Given the description of an element on the screen output the (x, y) to click on. 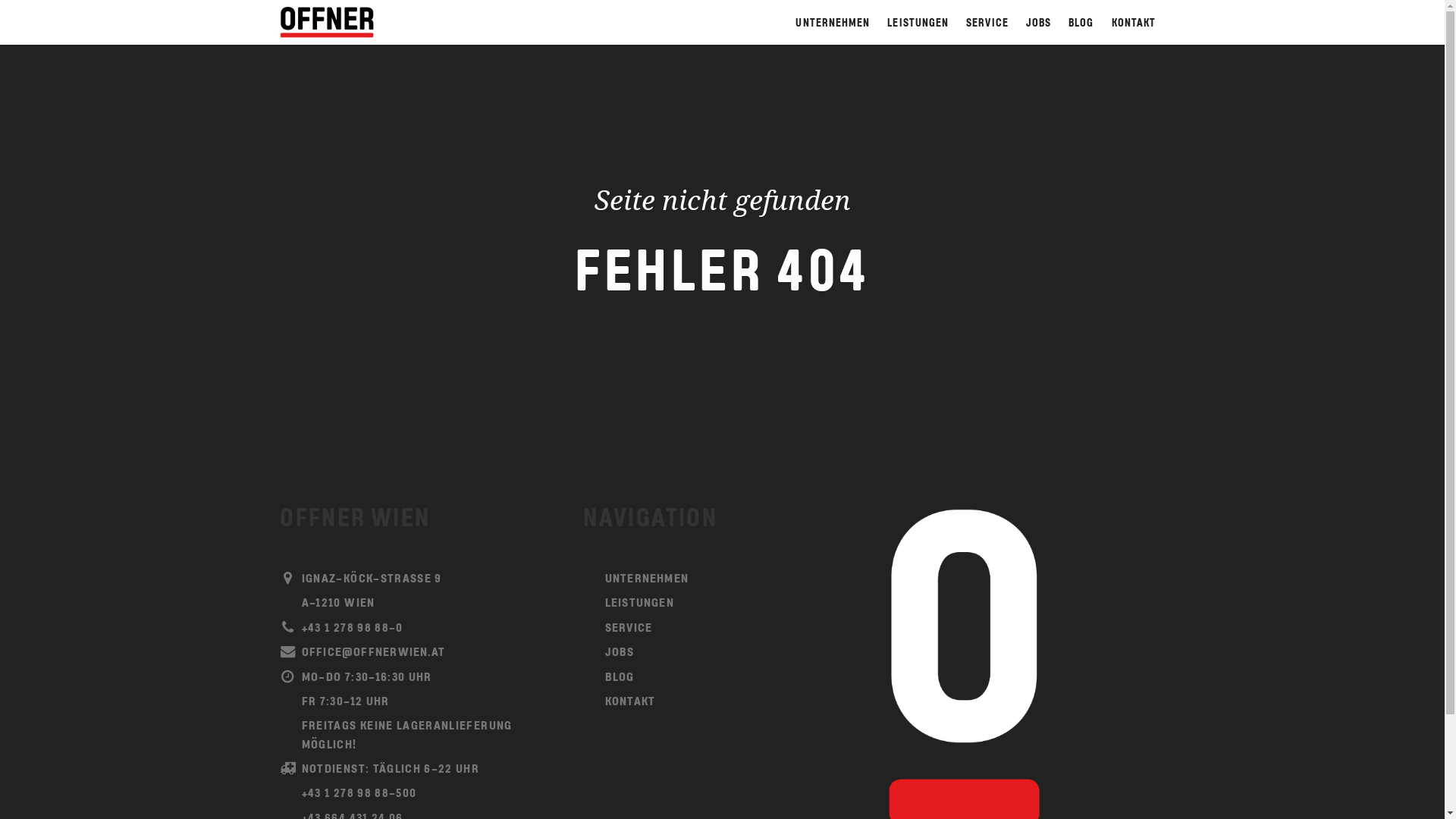
LEISTUNGEN Element type: text (917, 23)
SERVICE Element type: text (721, 628)
JOBS Element type: text (721, 652)
SERVICE Element type: text (987, 23)
BLOG Element type: text (721, 677)
BLOG Element type: text (1081, 23)
UNTERNEHMEN Element type: text (721, 579)
KONTAKT Element type: text (721, 702)
LEISTUNGEN Element type: text (721, 603)
UNTERNEHMEN Element type: text (832, 23)
KONTAKT Element type: text (1133, 23)
OFFICE@OFFNERWIEN.AT Element type: text (418, 652)
JOBS Element type: text (1037, 23)
